Given the description of an element on the screen output the (x, y) to click on. 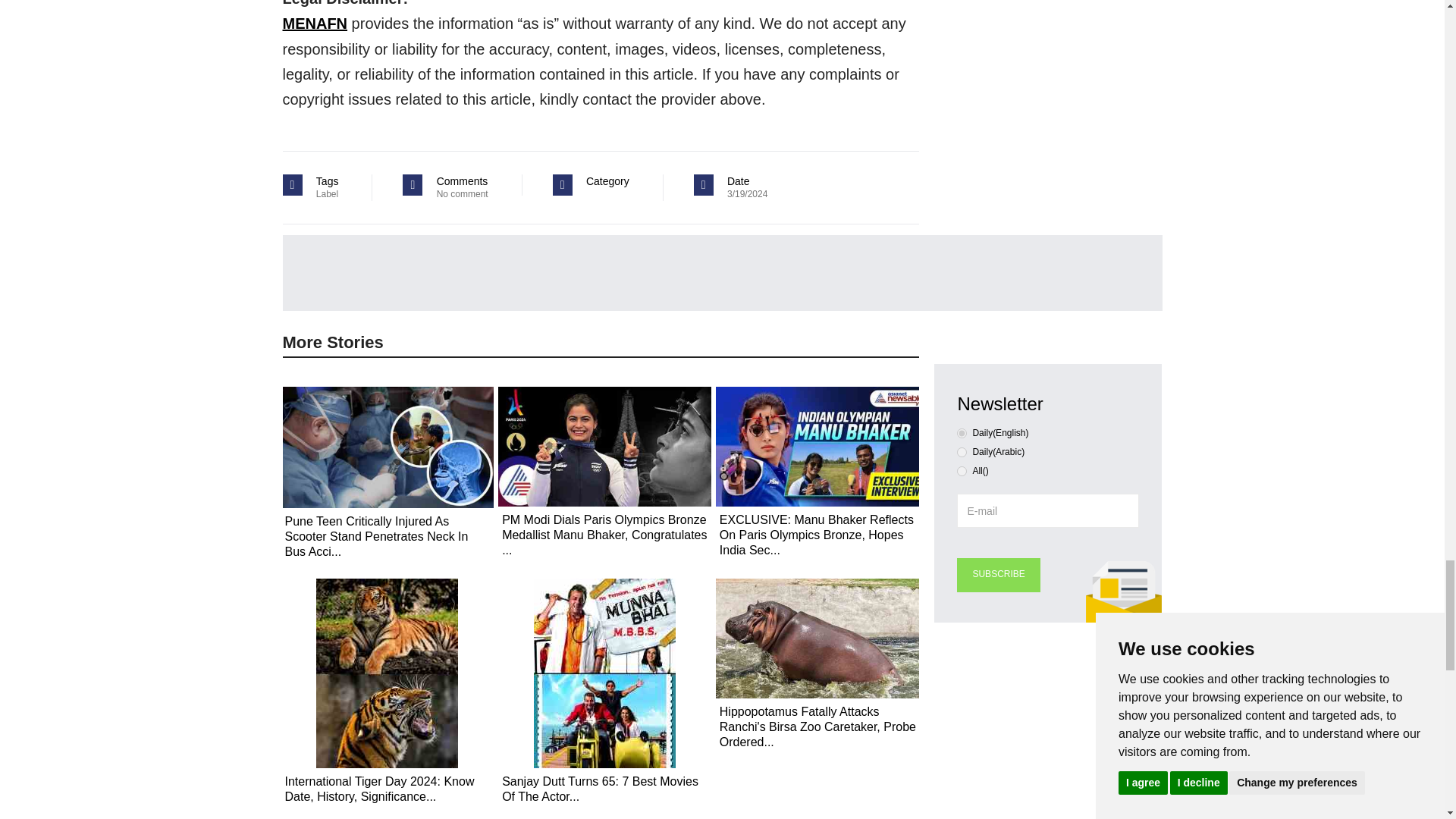
1 (961, 452)
0 (961, 433)
2 (961, 470)
Subscribe (997, 574)
